Given the description of an element on the screen output the (x, y) to click on. 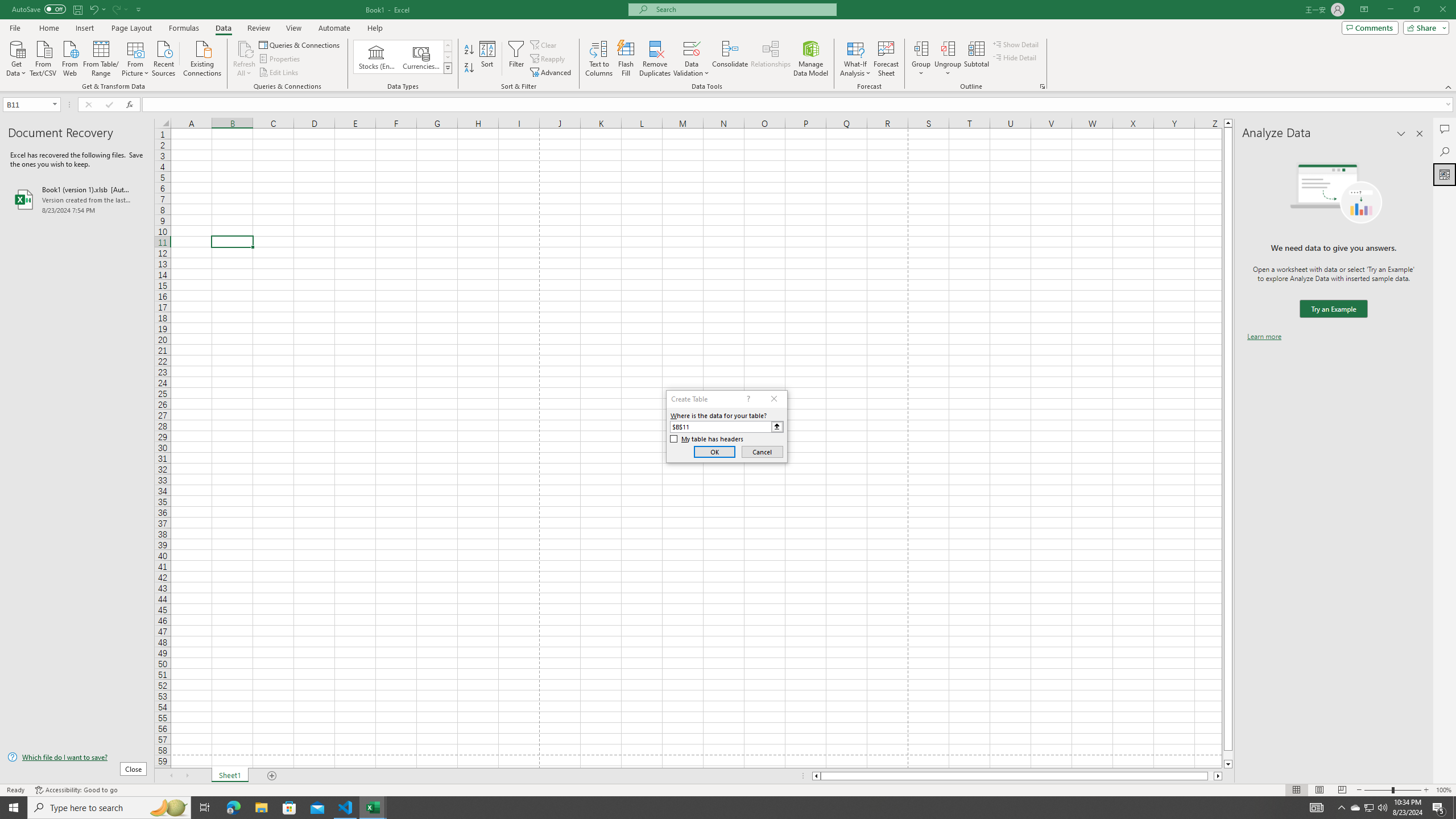
Consolidate... (729, 58)
